Given the description of an element on the screen output the (x, y) to click on. 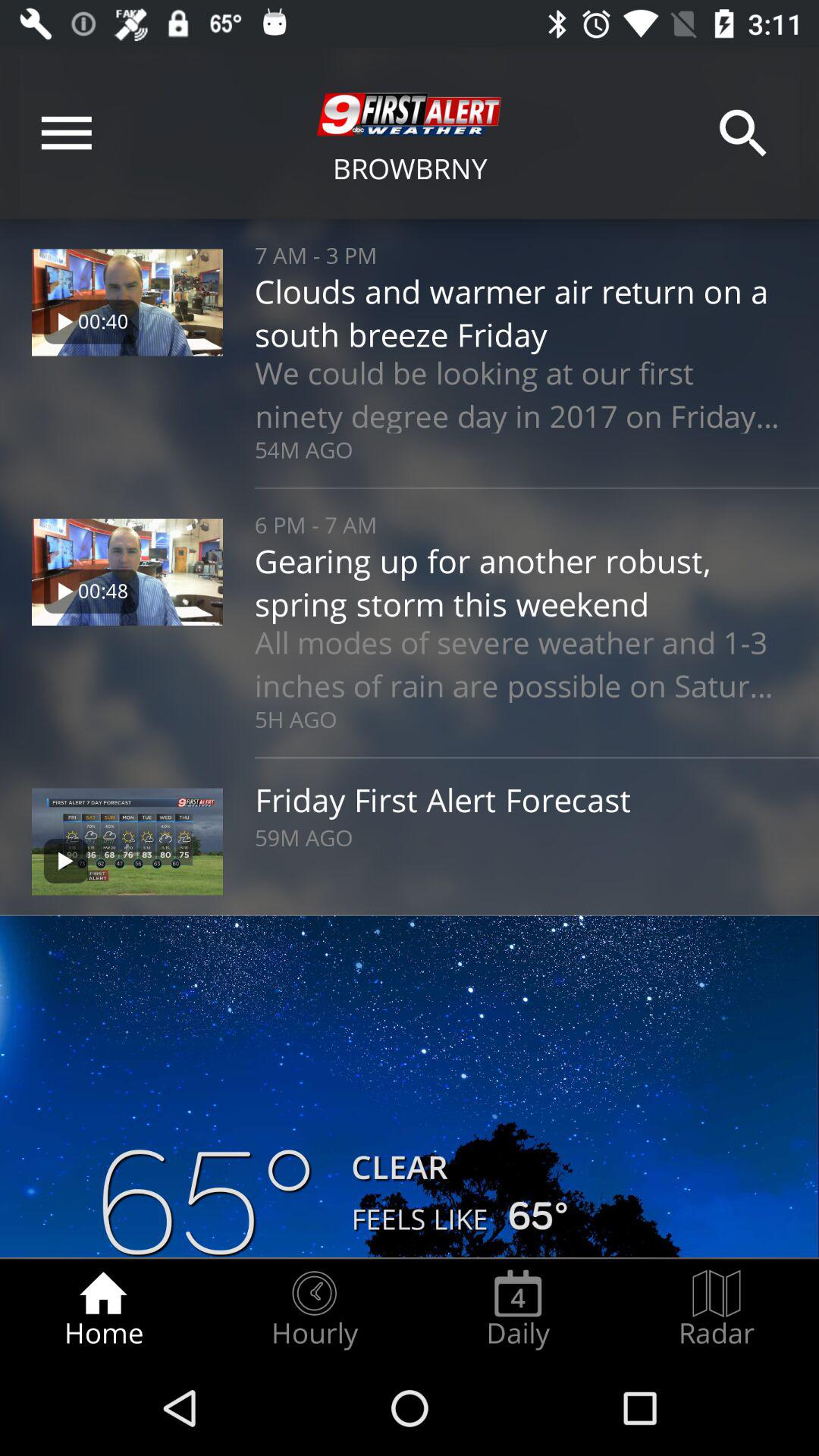
open item to the right of home item (314, 1309)
